Given the description of an element on the screen output the (x, y) to click on. 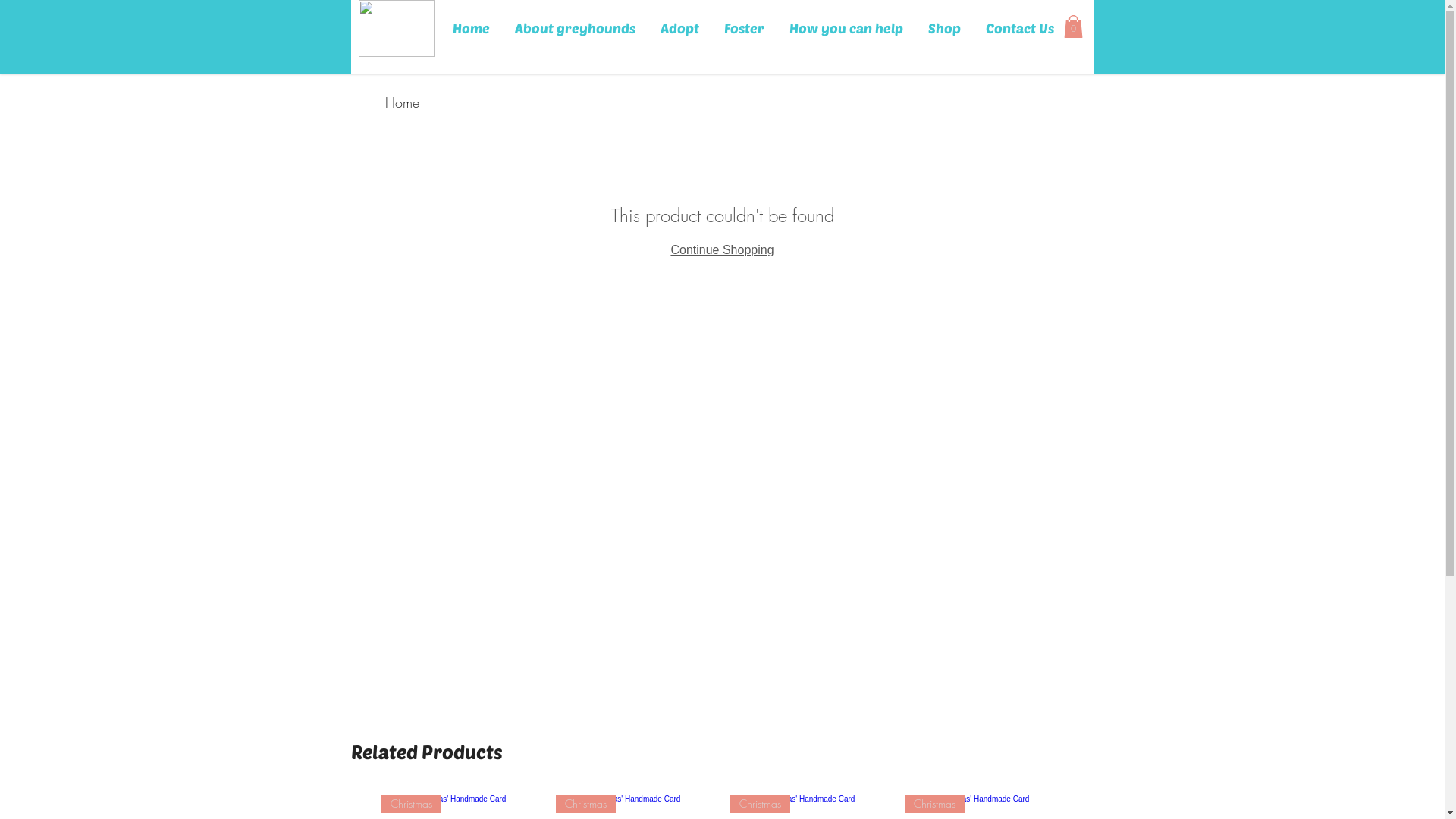
Adopt Element type: text (679, 28)
Continue Shopping Element type: text (721, 249)
About greyhounds Element type: text (574, 28)
Home Element type: text (402, 102)
Home Element type: text (470, 28)
Foster Element type: text (743, 28)
Shop Element type: text (944, 28)
Contact Us Element type: text (1019, 28)
0 Element type: text (1072, 26)
How you can help Element type: text (845, 28)
